Given the description of an element on the screen output the (x, y) to click on. 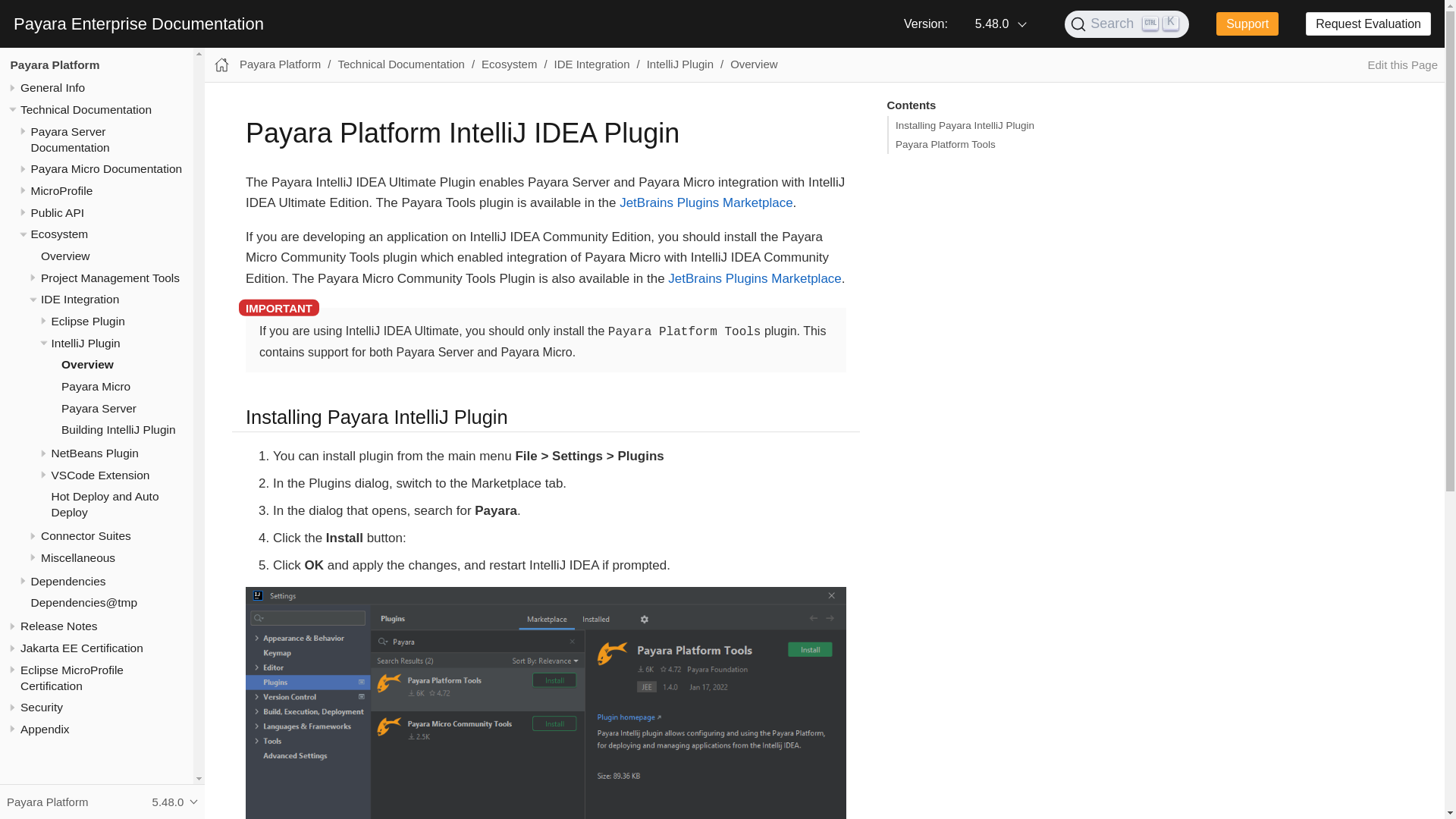
Payara Enterprise Documentation (138, 23)
Important (278, 307)
5.48.0 (999, 23)
